Given the description of an element on the screen output the (x, y) to click on. 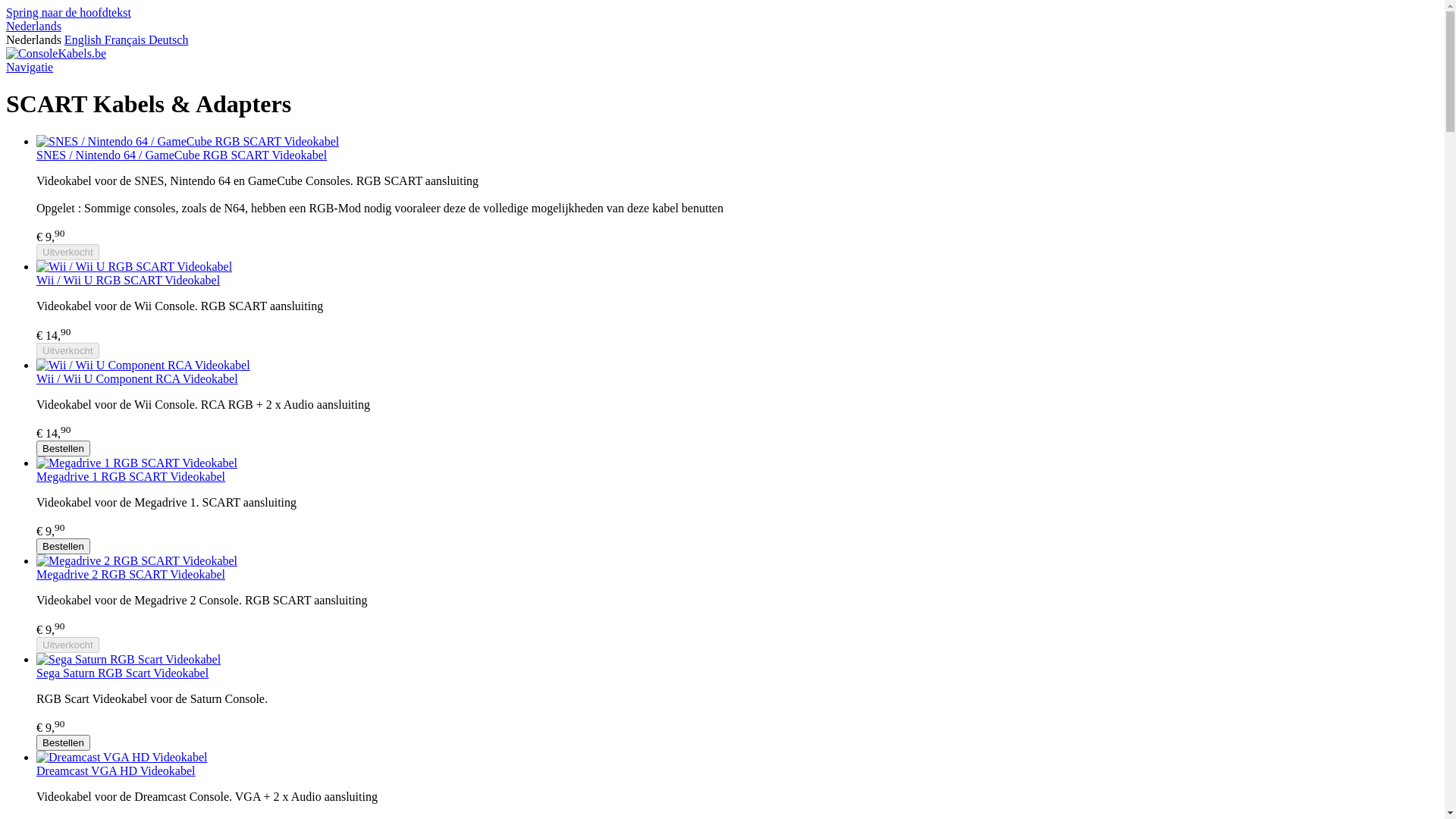
Megadrive 1 RGB SCART Videokabel Element type: hover (136, 462)
Dreamcast VGA HD Videokabel Element type: hover (121, 756)
Nederlands Element type: text (35, 39)
Wii / Wii U RGB SCART Videokabel Element type: text (127, 279)
SNES / Nintendo 64 / GameCube  RGB SCART Videokabel Element type: hover (187, 140)
Uitverkocht Element type: text (67, 350)
Wii / Wii U Component RCA Videokabel Element type: text (137, 378)
Dreamcast VGA HD Videokabel Element type: text (115, 770)
Nederlands Element type: text (33, 25)
Wii / Wii U  RGB SCART  Videokabel Element type: hover (134, 266)
Spring naar de hoofdtekst Element type: text (68, 12)
Uitverkocht Element type: text (67, 644)
Megadrive 2 RGB SCART Videokabel Element type: hover (136, 560)
Bestellen Element type: text (63, 448)
Uitverkocht Element type: text (67, 252)
Megadrive 2 RGB SCART Videokabel Element type: text (130, 573)
Sega Saturn RGB Scart Videokabel Element type: text (122, 672)
Sega Saturn RGB Scart Videokabel Element type: hover (128, 658)
Navigatie Element type: text (29, 66)
Megadrive 1 RGB SCART Videokabel Element type: text (130, 476)
Bestellen Element type: text (63, 742)
Deutsch Element type: text (168, 39)
Bestellen Element type: text (63, 546)
English Element type: text (84, 39)
SNES / Nintendo 64 / GameCube RGB SCART Videokabel Element type: text (181, 154)
Wii / Wii U Component  RCA Videokabel Element type: hover (143, 364)
